Given the description of an element on the screen output the (x, y) to click on. 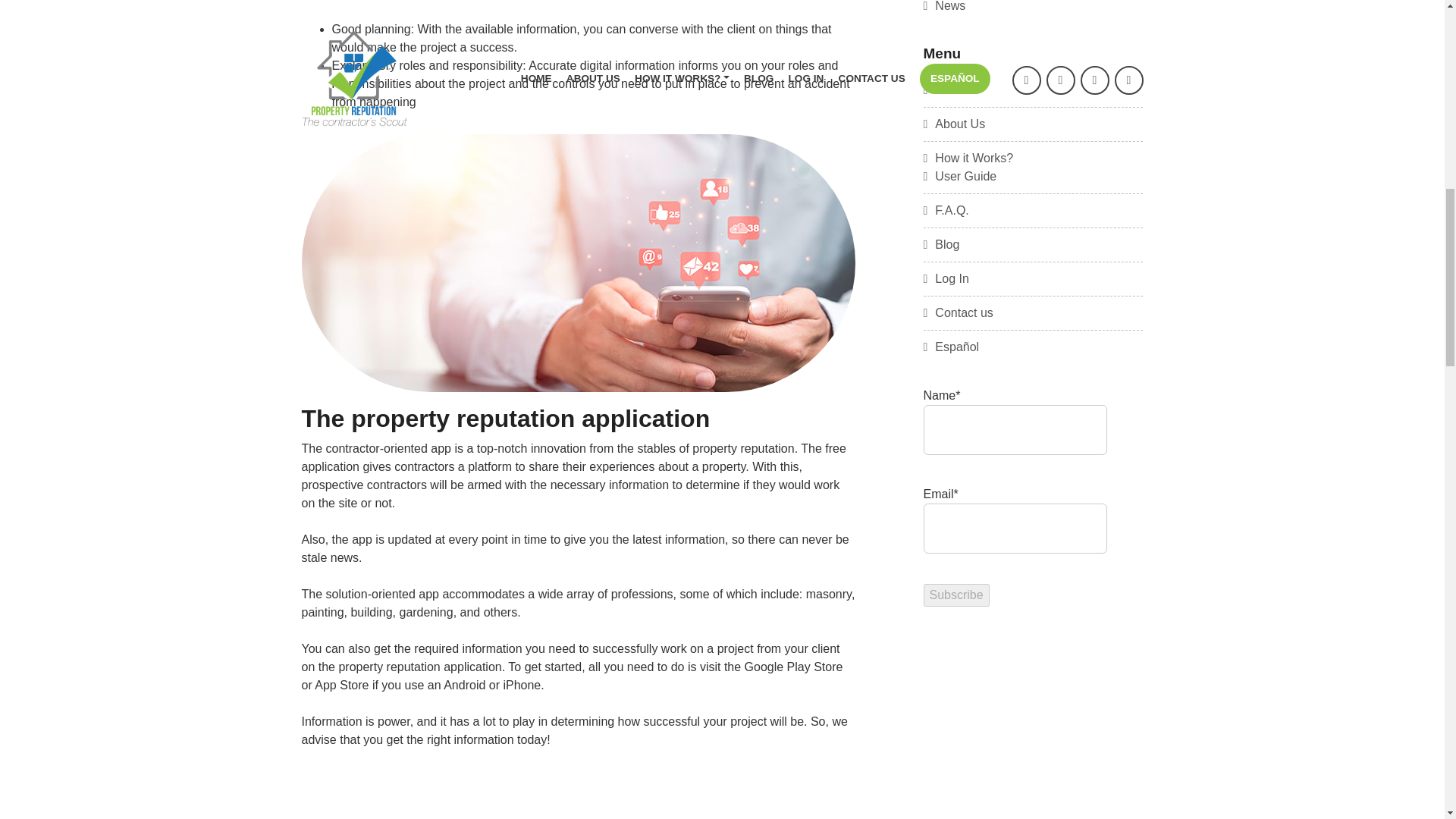
News (944, 6)
Home (945, 89)
About Us (954, 123)
Subscribe (956, 594)
